Given the description of an element on the screen output the (x, y) to click on. 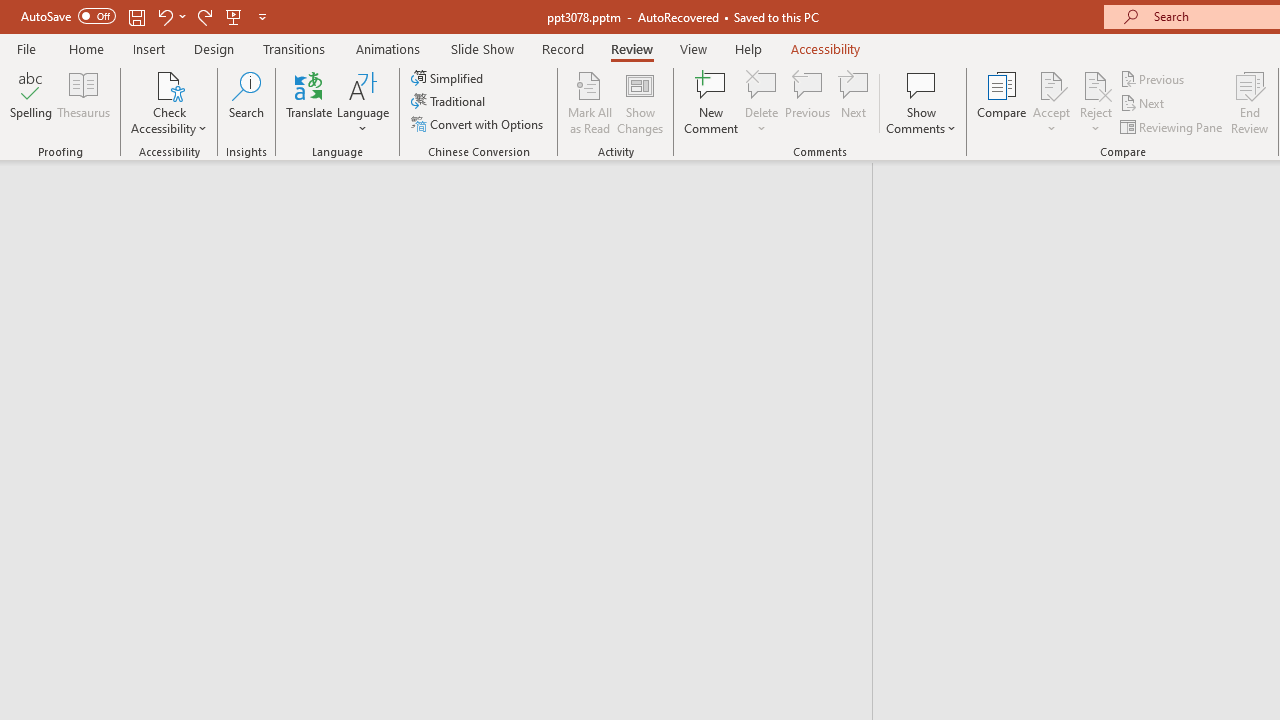
New Comment (711, 102)
Show Comments (921, 84)
Mark All as Read (589, 102)
Show Changes (639, 102)
Check Accessibility (169, 102)
Compare (1002, 102)
Accept (1051, 102)
